Given the description of an element on the screen output the (x, y) to click on. 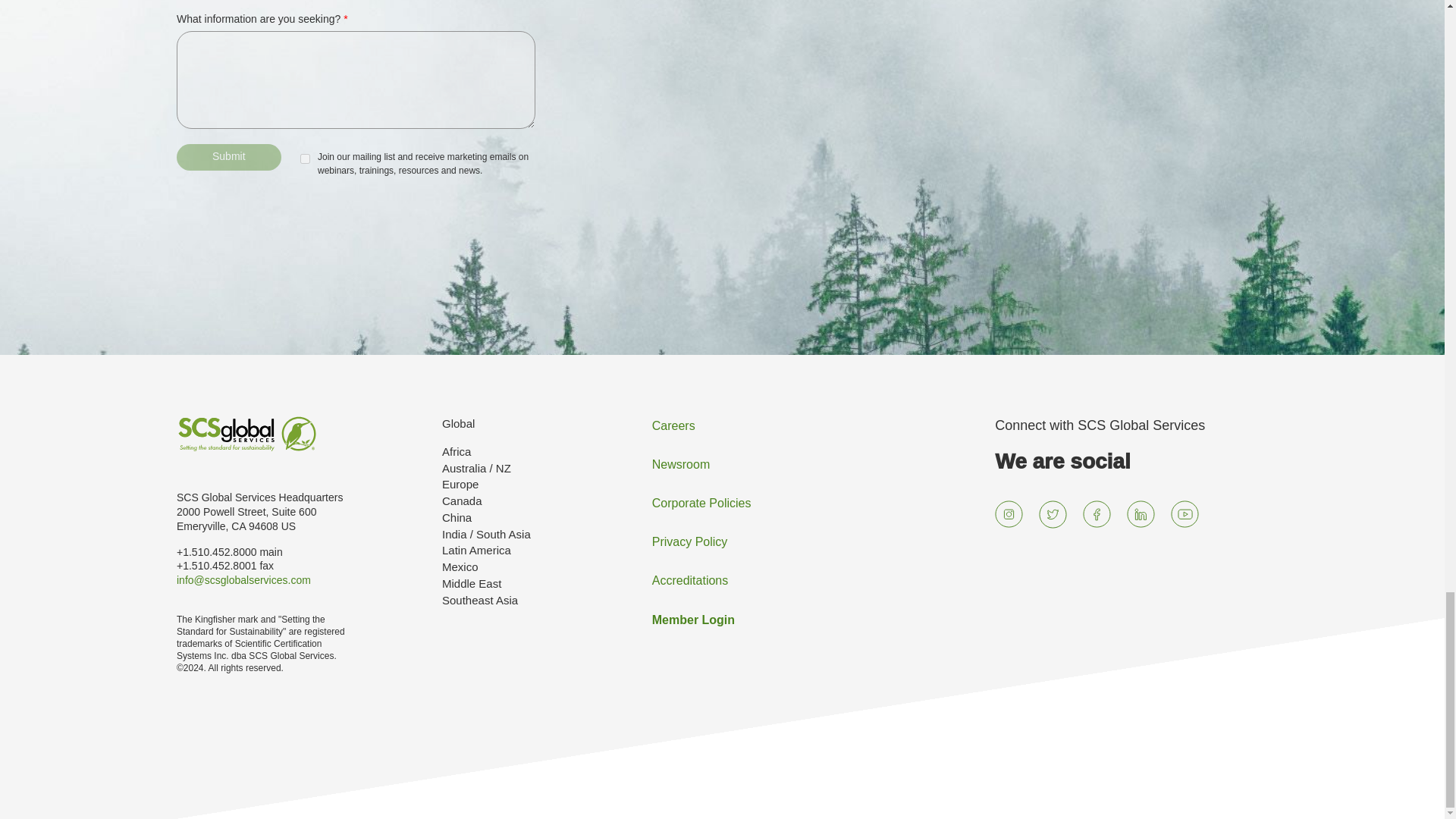
SCS Global Services on Facebook (1096, 514)
SCS Global Services on Twitter (1053, 514)
SCS Global Services on LinkedIn (1140, 514)
Yes (304, 158)
Submit (228, 157)
SCS Global Services' Instagram Account (1008, 514)
SCS Global Services' YouTube Account (1184, 514)
